Given the description of an element on the screen output the (x, y) to click on. 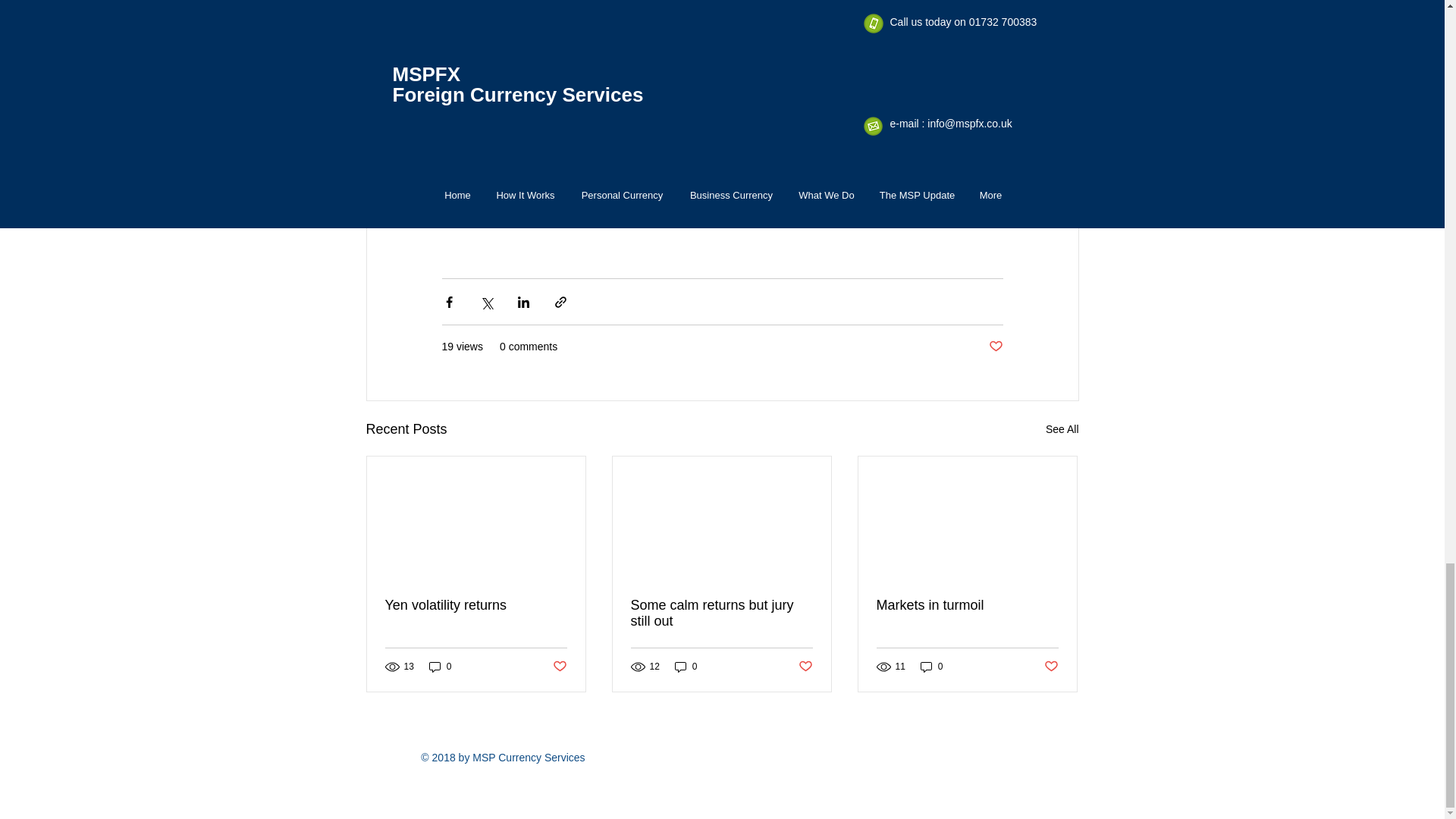
Some calm returns but jury still out (721, 613)
0 (440, 667)
Post not marked as liked (558, 666)
Yen volatility returns (476, 605)
0 (931, 667)
Post not marked as liked (995, 346)
Markets in turmoil (967, 605)
See All (1061, 429)
Post not marked as liked (804, 666)
0 (685, 667)
